Given the description of an element on the screen output the (x, y) to click on. 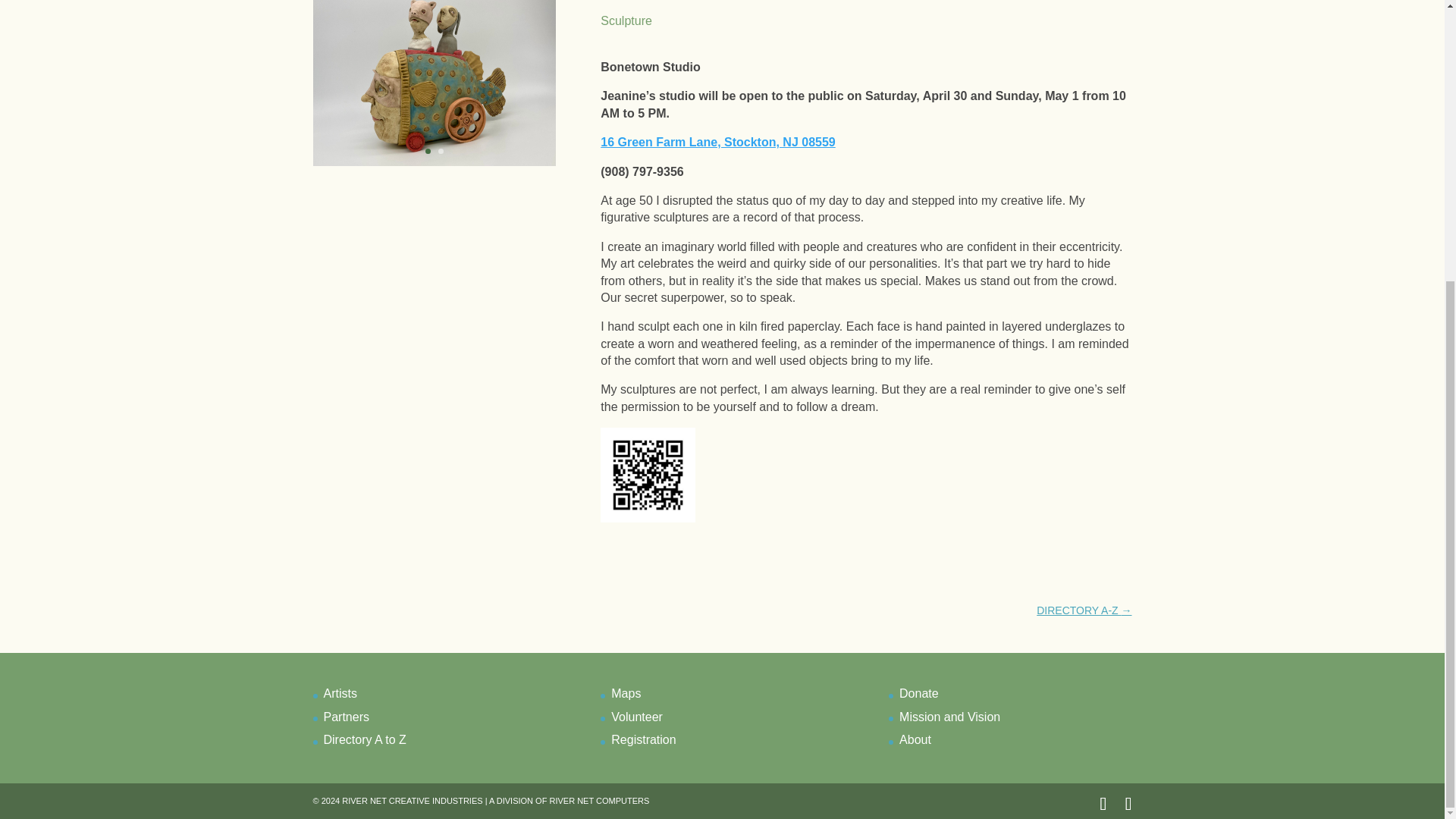
River Net Creative Industries (411, 800)
sculpture (433, 164)
